Given the description of an element on the screen output the (x, y) to click on. 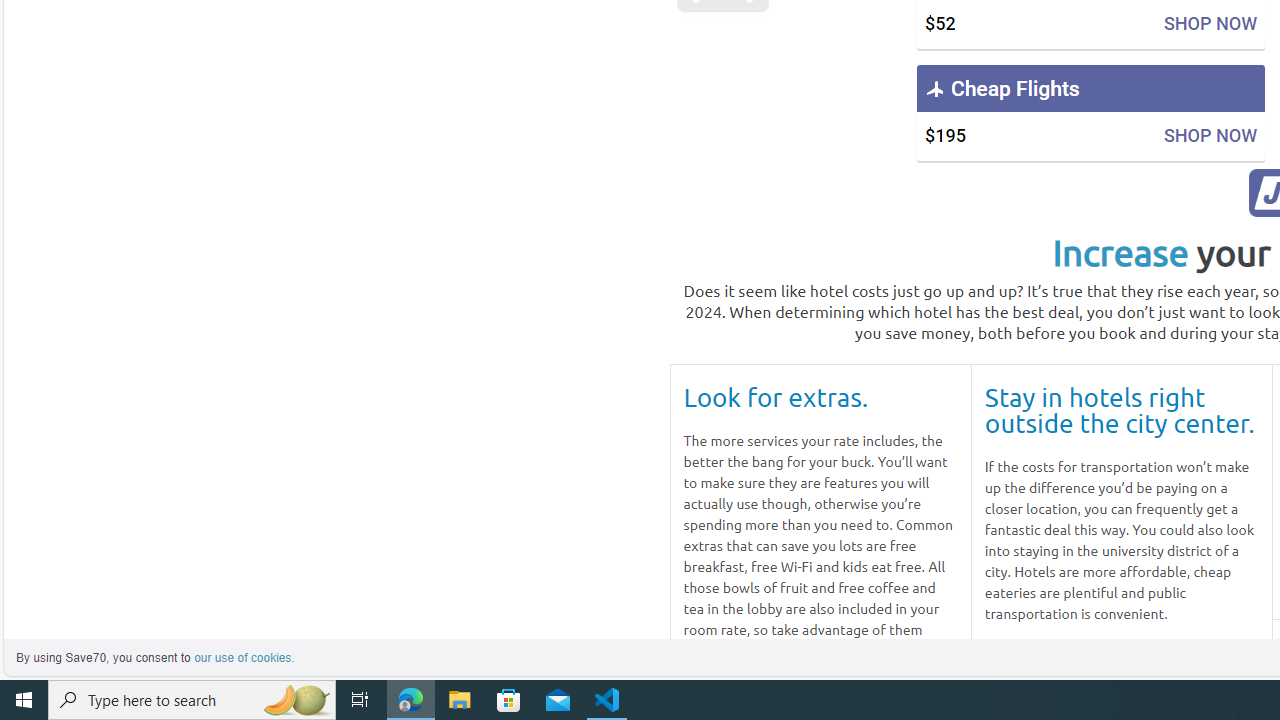
Cheap Flights $195 SHOP NOW (1090, 112)
learn more about cookies (244, 657)
